Given the description of an element on the screen output the (x, y) to click on. 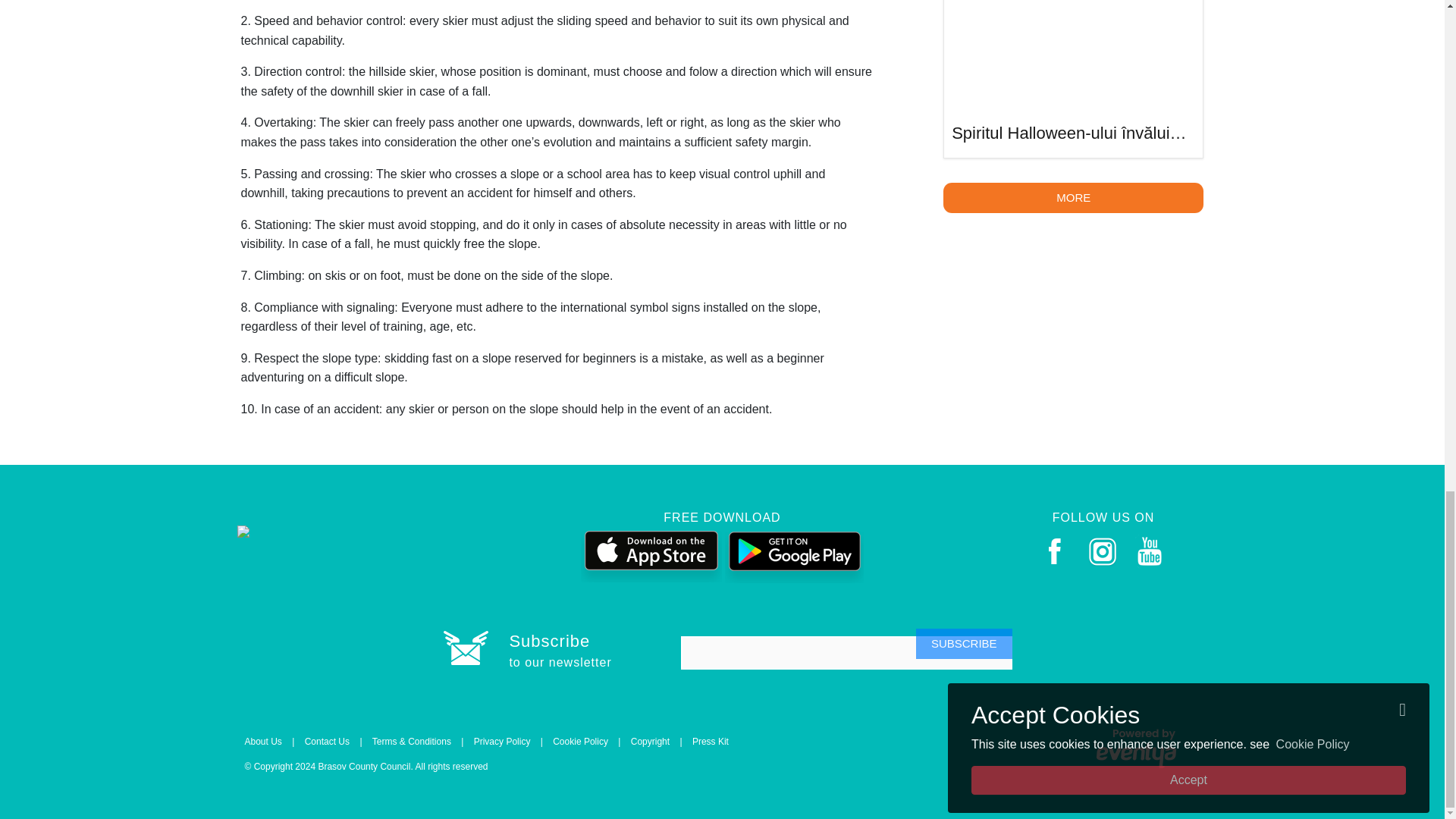
Subscribe (963, 643)
